Given the description of an element on the screen output the (x, y) to click on. 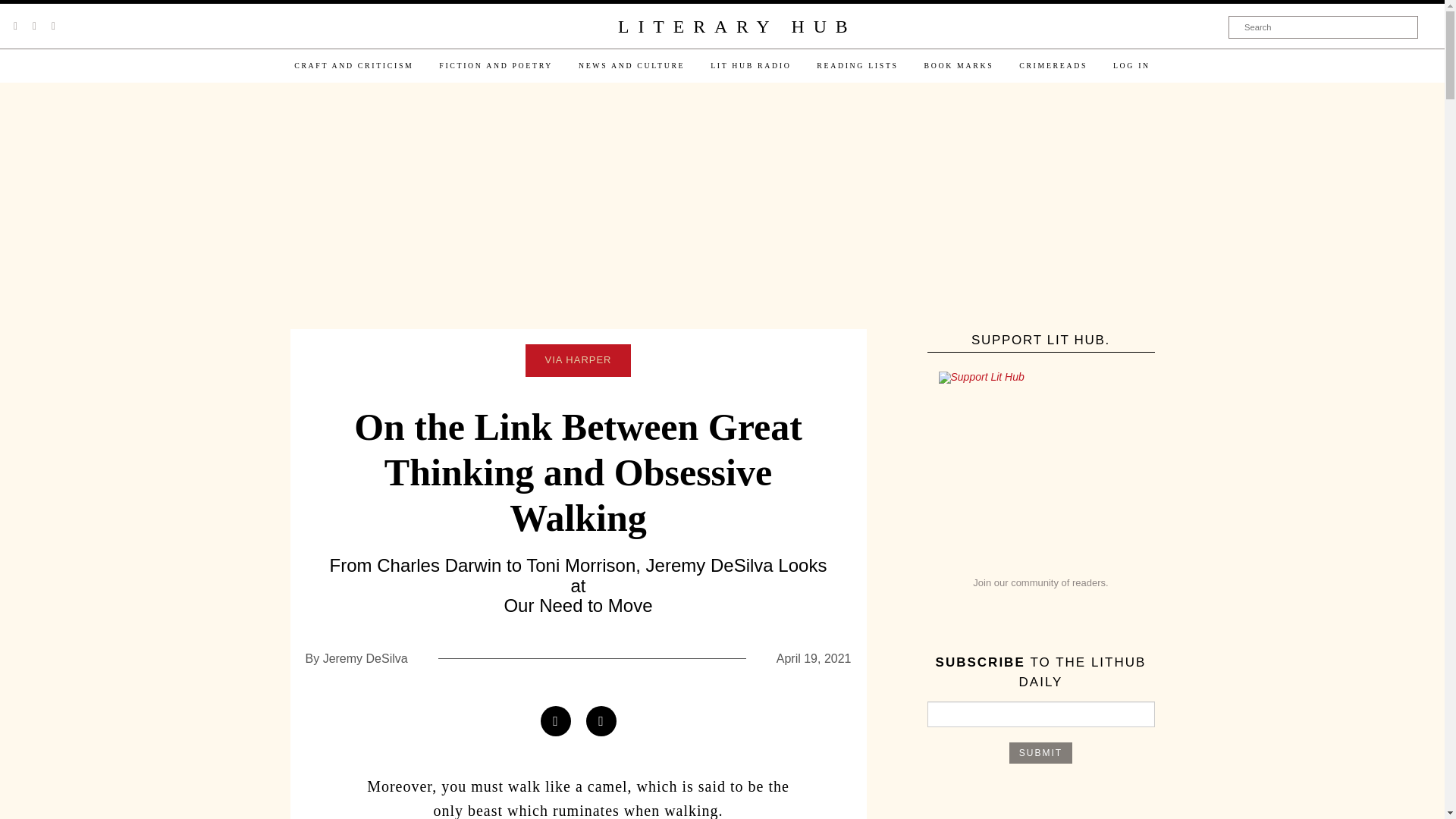
Search (1323, 26)
LITERARY HUB (736, 26)
FICTION AND POETRY (496, 65)
NEWS AND CULTURE (631, 65)
CRAFT AND CRITICISM (353, 65)
